Given the description of an element on the screen output the (x, y) to click on. 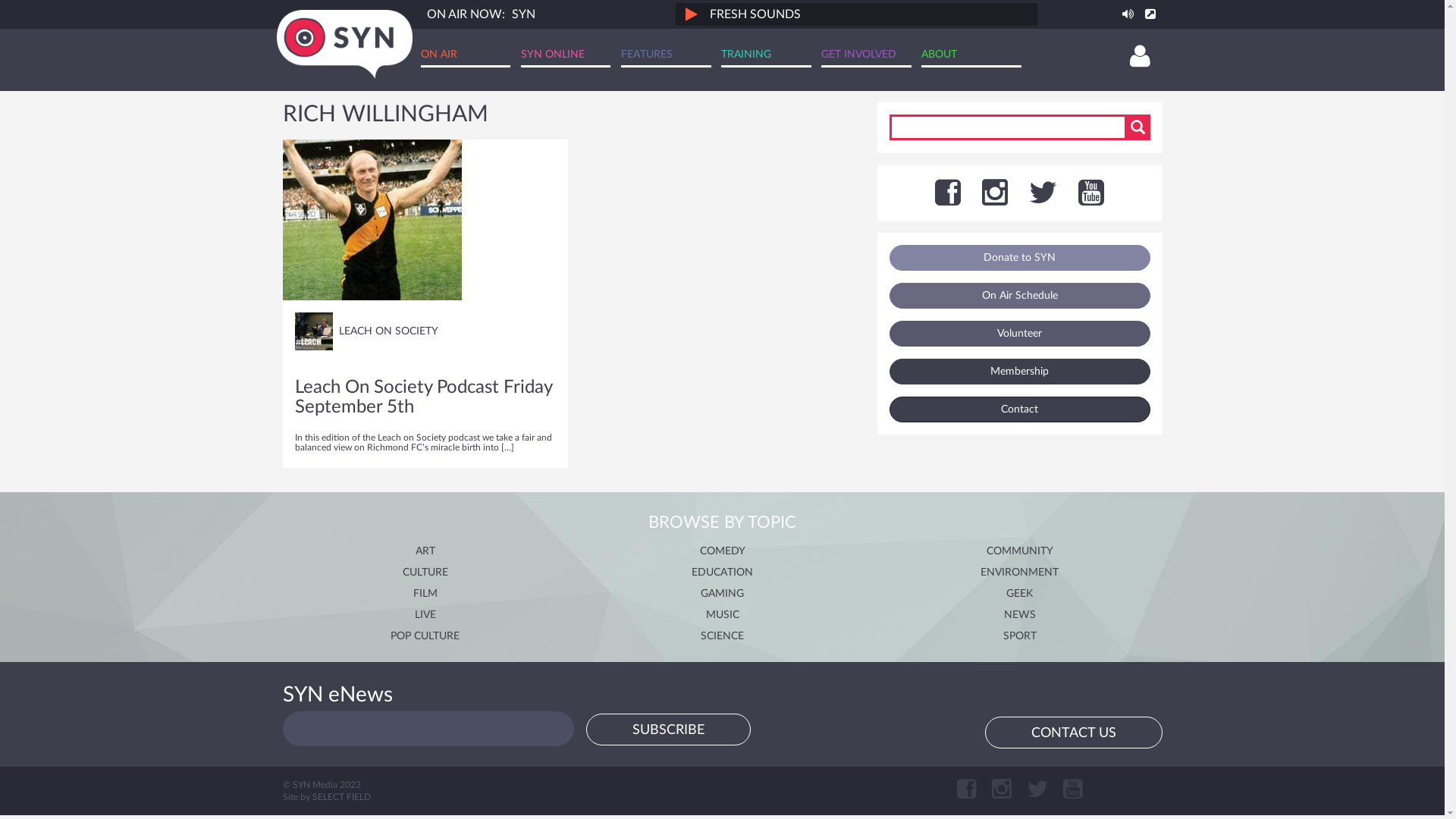
COMEDY Element type: text (721, 551)
CONTACT US Element type: text (1072, 732)
Subscribe Element type: text (667, 729)
POP CULTURE Element type: text (424, 635)
On Air Schedule Element type: text (1018, 295)
GEEK Element type: text (1019, 593)
LIVE Element type: text (424, 614)
ABOUT Element type: text (971, 55)
Leach On Society Podcast Friday September 5th Element type: text (422, 397)
Search for: Element type: hover (1018, 127)
ON AIR Element type: text (465, 55)
NEWS Element type: text (1019, 614)
Contact Element type: text (1018, 409)
ART Element type: text (425, 551)
FILM Element type: text (424, 593)
SYN ONLINE Element type: text (565, 55)
SPORT Element type: text (1018, 635)
FEATURES Element type: text (666, 55)
Volunteer Element type: text (1018, 333)
MUSIC Element type: text (721, 614)
SYN Media Element type: text (344, 43)
User Element type: hover (1139, 57)
EDUCATION Element type: text (722, 572)
SCIENCE Element type: text (721, 635)
ENVIRONMENT Element type: text (1019, 572)
SYN Element type: text (523, 14)
Membership Element type: text (1018, 371)
COMMUNITY Element type: text (1018, 551)
GET INVOLVED Element type: text (866, 55)
TRAINING Element type: text (766, 55)
CULTURE Element type: text (424, 572)
GAMING Element type: text (721, 593)
SELECT FIELD Element type: text (341, 796)
Donate to SYN Element type: text (1018, 257)
